Given the description of an element on the screen output the (x, y) to click on. 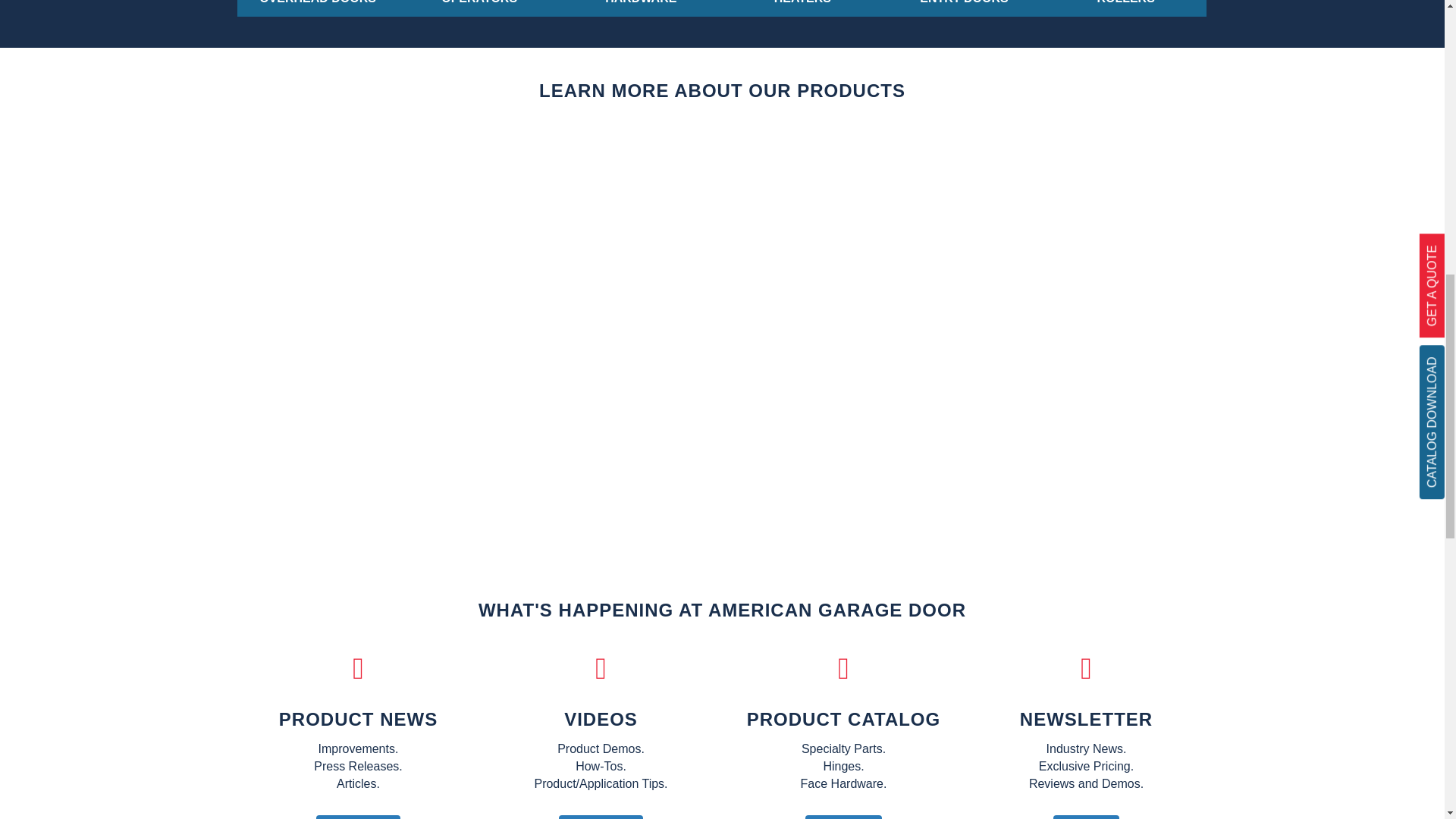
STAINLESS STEEL HARDWARE (1126, 8)
